Given the description of an element on the screen output the (x, y) to click on. 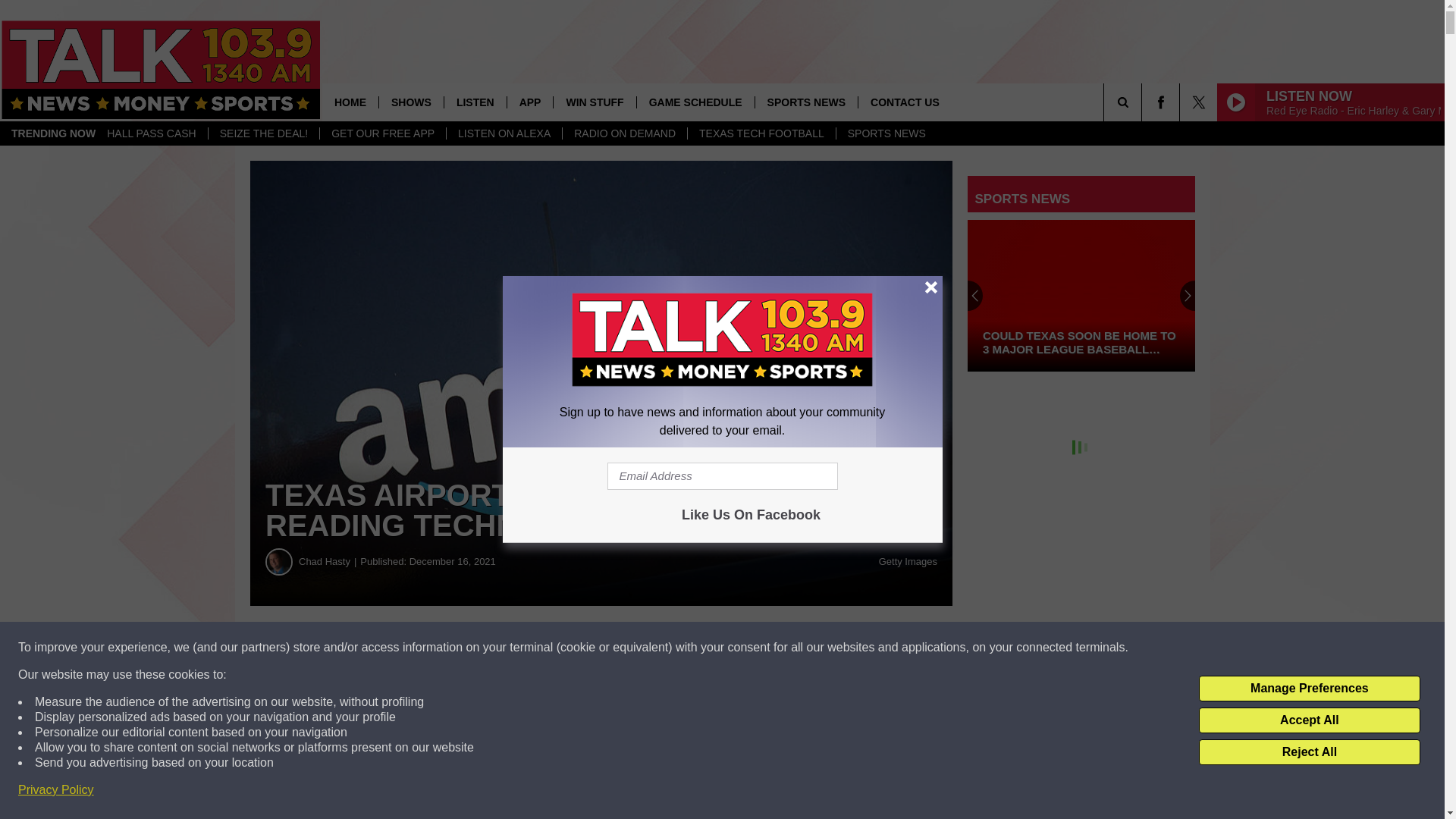
LISTEN ON ALEXA (503, 133)
WIN STUFF (593, 102)
LISTEN (475, 102)
SEARCH (1144, 102)
HALL PASS CASH (152, 133)
HOME (349, 102)
RADIO ON DEMAND (624, 133)
Reject All (1309, 751)
SEIZE THE DEAL! (263, 133)
CONTACT US (904, 102)
SPORTS NEWS (805, 102)
Share on Twitter (741, 647)
GAME SCHEDULE (695, 102)
GET OUR FREE APP (381, 133)
SEARCH (1144, 102)
